Given the description of an element on the screen output the (x, y) to click on. 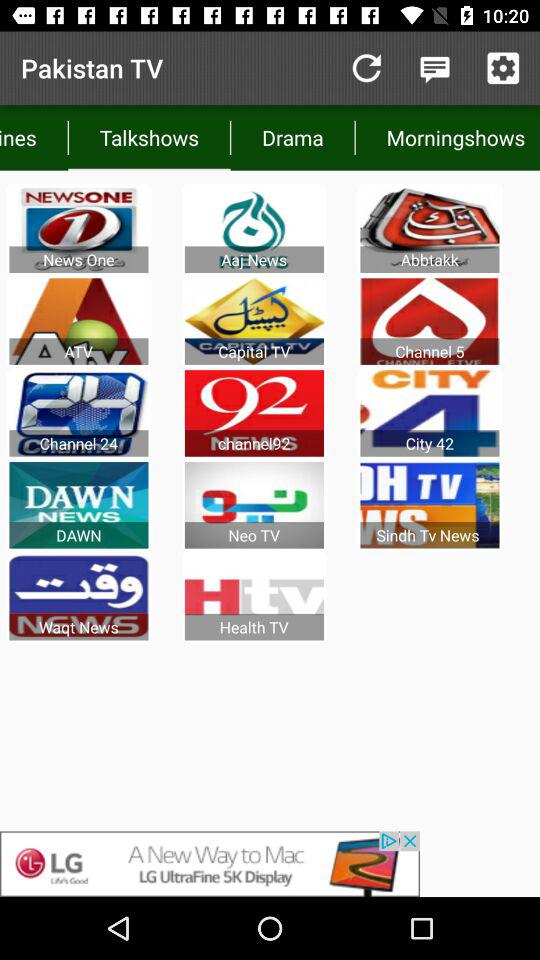
go to advertisement website (270, 864)
